Given the description of an element on the screen output the (x, y) to click on. 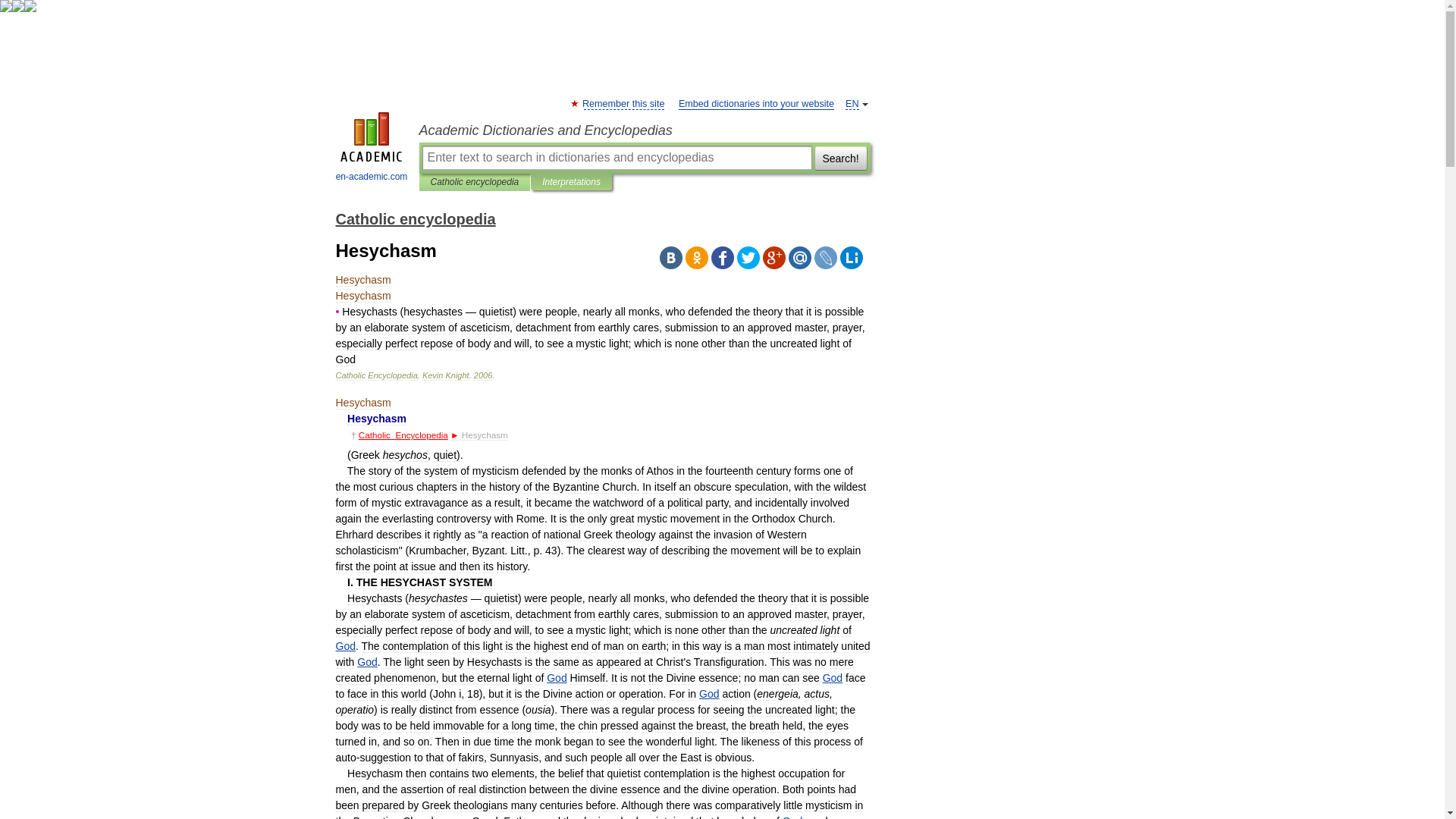
Remember this site (623, 103)
God (792, 816)
EN (852, 103)
Enter text to search in dictionaries and encyclopedias (616, 157)
Catholic encyclopedia (474, 181)
Search! (840, 157)
Embed dictionaries into your website (756, 103)
God (366, 662)
God (344, 645)
God (832, 677)
